Given the description of an element on the screen output the (x, y) to click on. 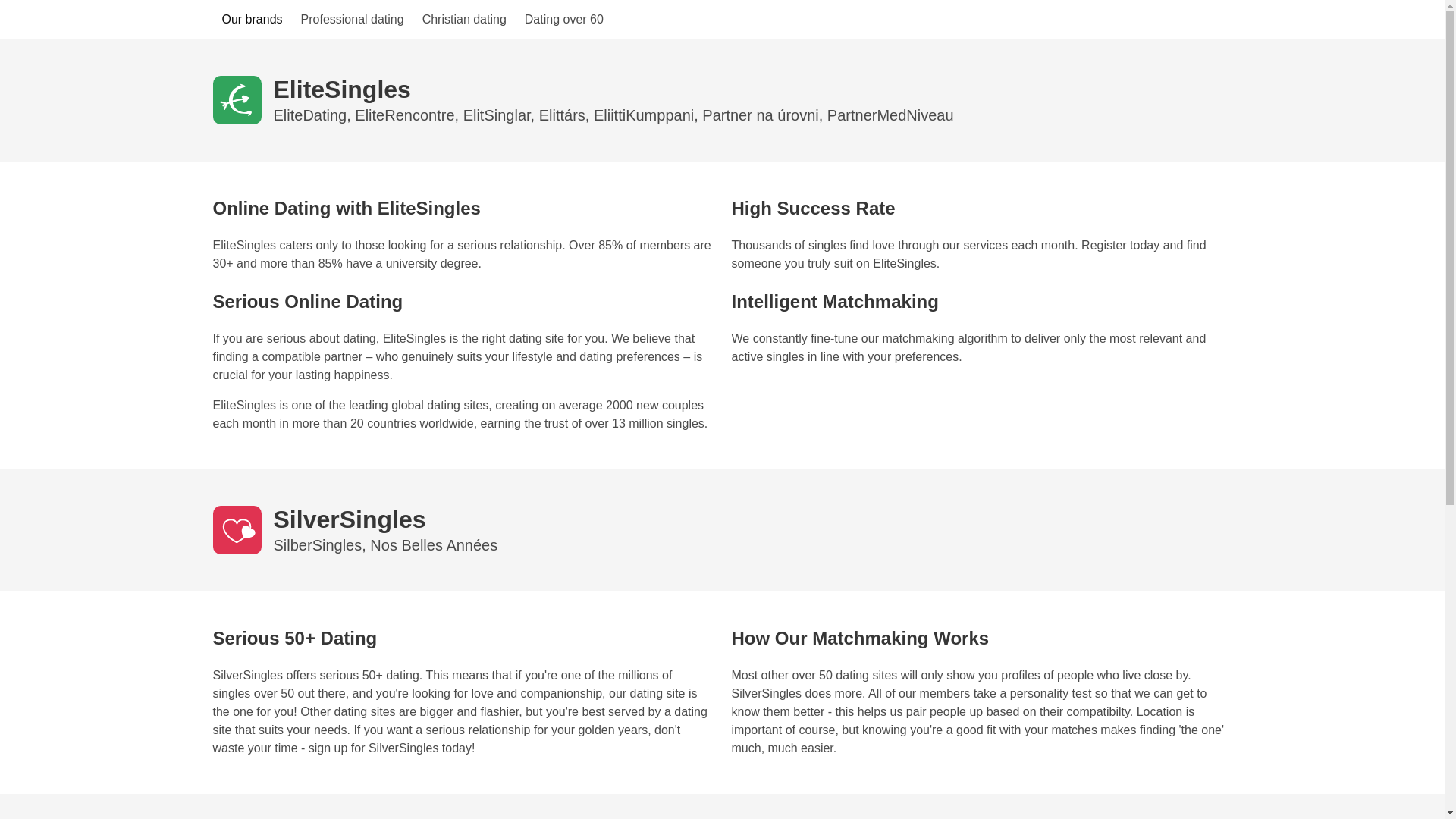
Professional dating (352, 19)
Dating over 60 (563, 19)
Christian dating (464, 19)
Our brands (251, 19)
